Given the description of an element on the screen output the (x, y) to click on. 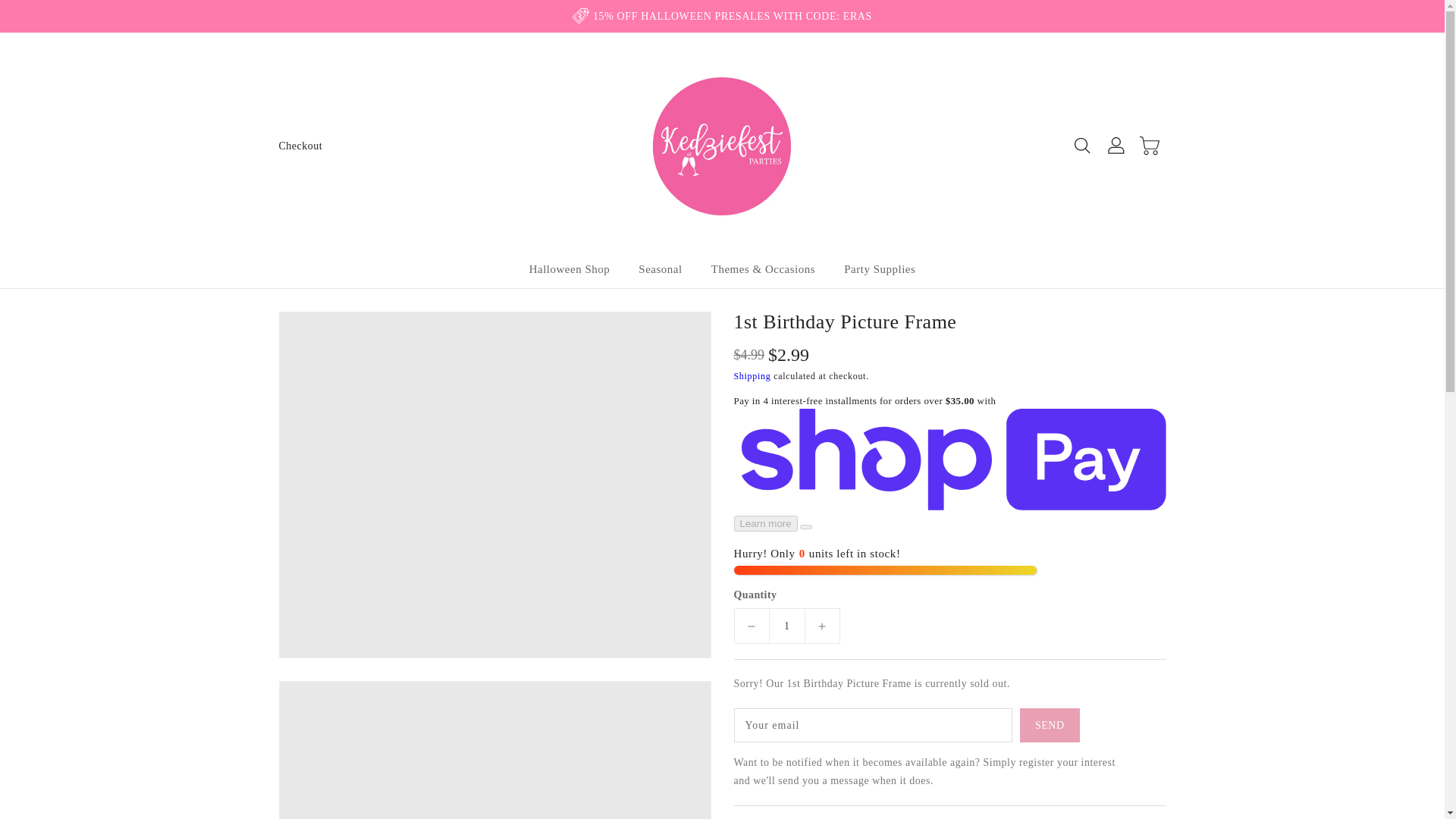
1 (786, 625)
Send (1050, 725)
Seasonal (660, 269)
SKIP TO CONTENT (14, 7)
Halloween Shop (569, 269)
Checkout (301, 145)
